Given the description of an element on the screen output the (x, y) to click on. 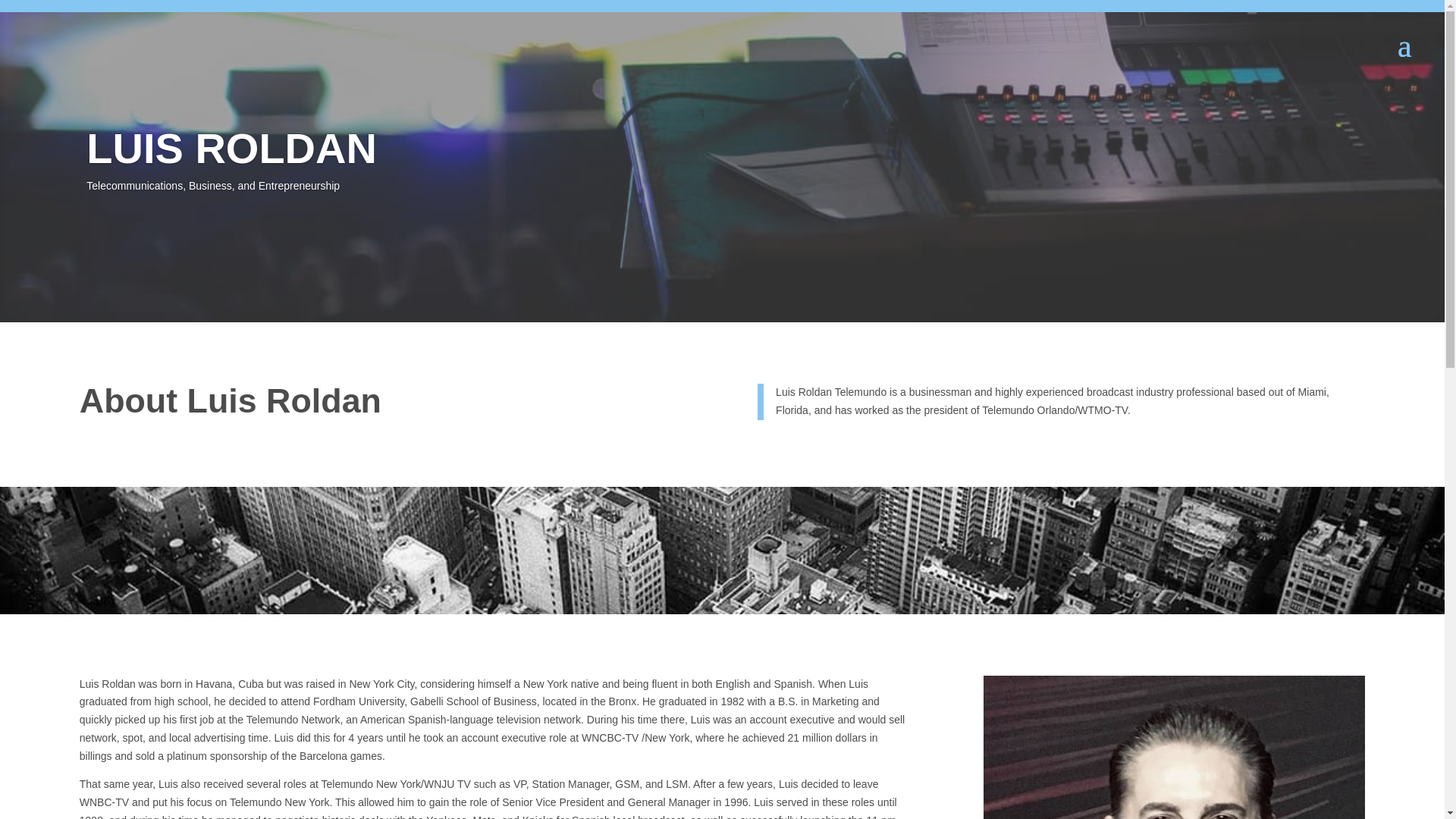
Luis Roldan Telemundo Headshot (1174, 746)
